Given the description of an element on the screen output the (x, y) to click on. 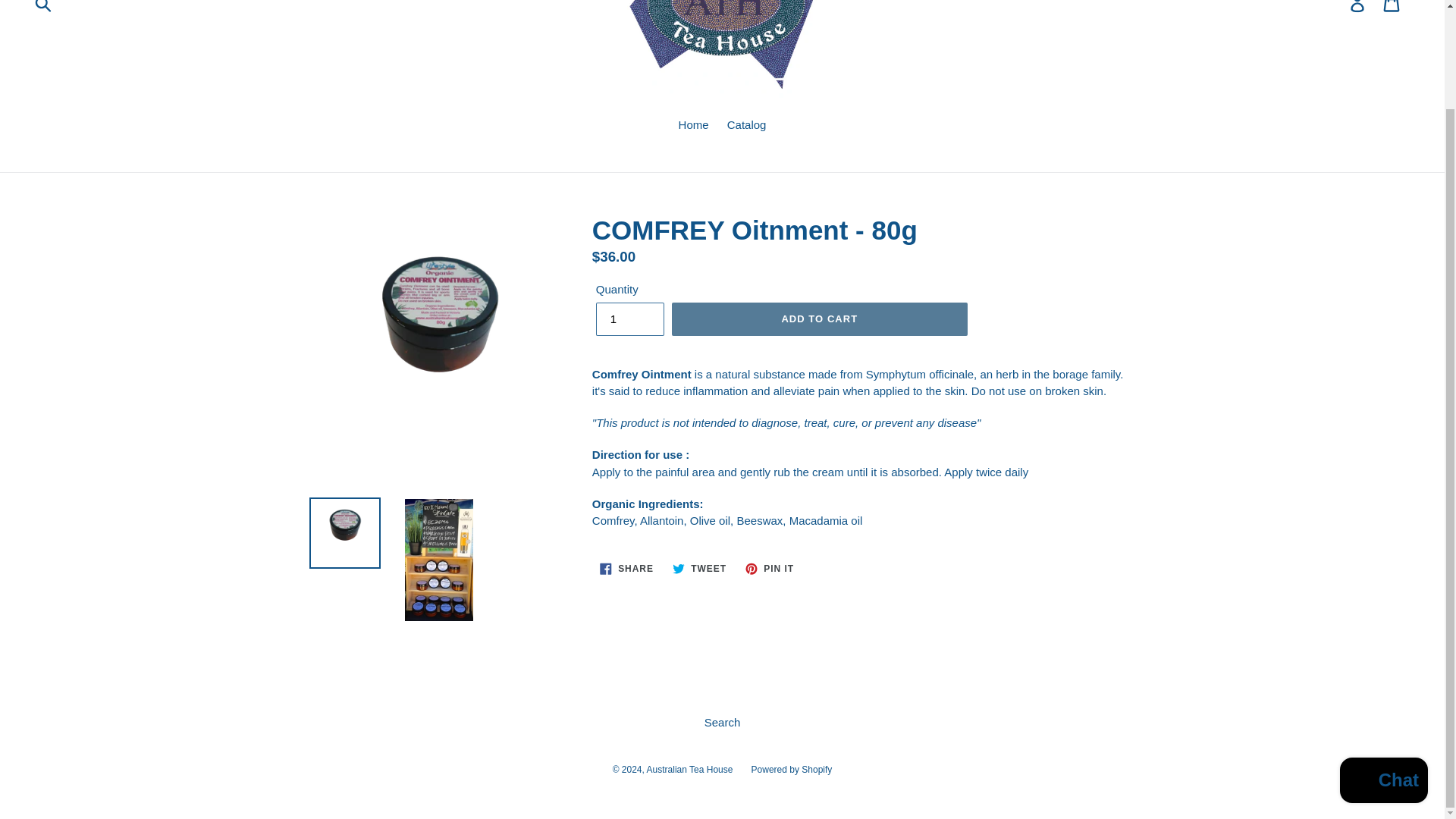
Home (693, 126)
Cart (770, 568)
Australian Tea House (1392, 9)
Search (689, 769)
1 (626, 568)
Powered by Shopify (722, 721)
ADD TO CART (629, 318)
Submit (791, 769)
